Given the description of an element on the screen output the (x, y) to click on. 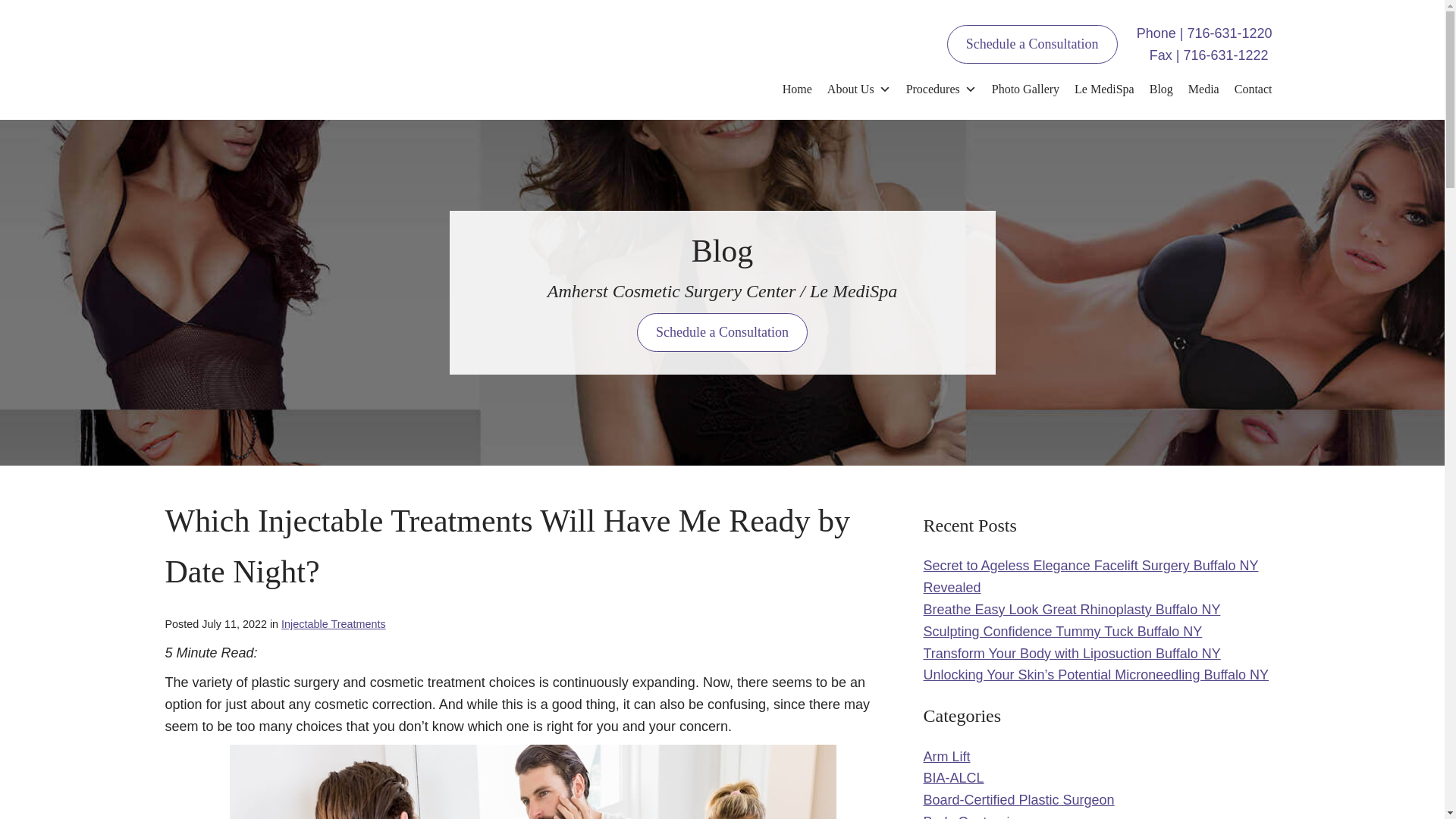
Home (796, 89)
About Us (858, 89)
Procedures (941, 89)
Schedule a Consultation (1032, 44)
716-631-1220 (1228, 32)
